Given the description of an element on the screen output the (x, y) to click on. 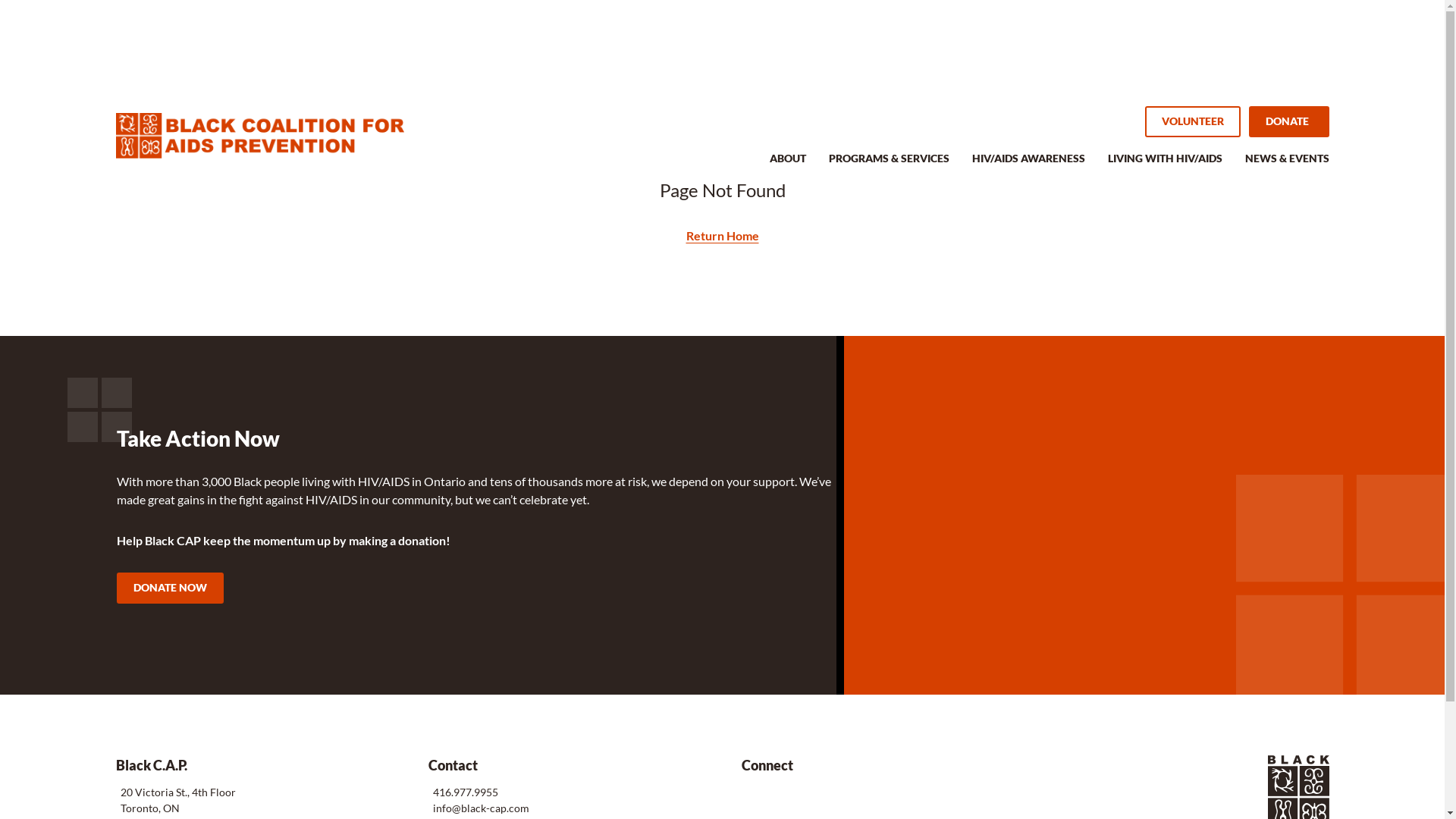
NEWS & EVENTS Element type: text (1287, 166)
ABOUT Element type: text (786, 166)
416.977.9955 Element type: text (463, 791)
DONATE Element type: text (1288, 121)
LIVING WITH HIV/AIDS Element type: text (1164, 166)
DONATE NOW Element type: text (169, 587)
VOLUNTEER Element type: text (1192, 121)
info@black-cap.com Element type: text (478, 807)
PROGRAMS & SERVICES Element type: text (888, 166)
Return Home Element type: text (721, 234)
HIV/AIDS AWARENESS Element type: text (1028, 166)
